Given the description of an element on the screen output the (x, y) to click on. 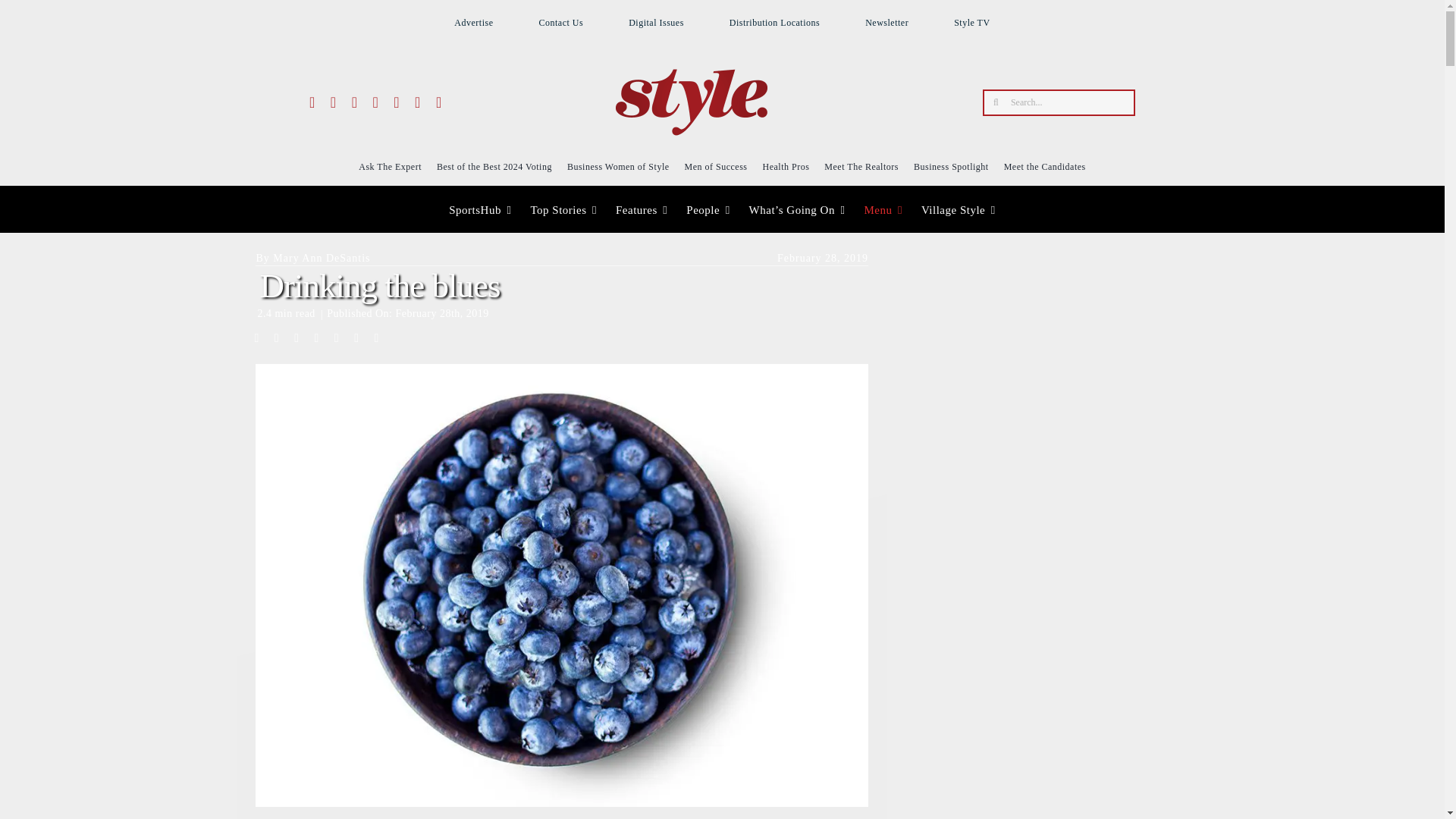
Business Women of Style (618, 166)
Meet The Realtors (861, 166)
Meet the Candidates (1045, 166)
Men of Success (716, 166)
Best of the Best 2024 Voting (493, 166)
Health Pros (785, 166)
Style TV (971, 22)
Newsletter (886, 22)
Contact Us (560, 22)
Business Spotlight (951, 166)
Digital Issues (656, 22)
Advertise (473, 22)
People (707, 210)
Features (640, 210)
Distribution Locations (774, 22)
